Given the description of an element on the screen output the (x, y) to click on. 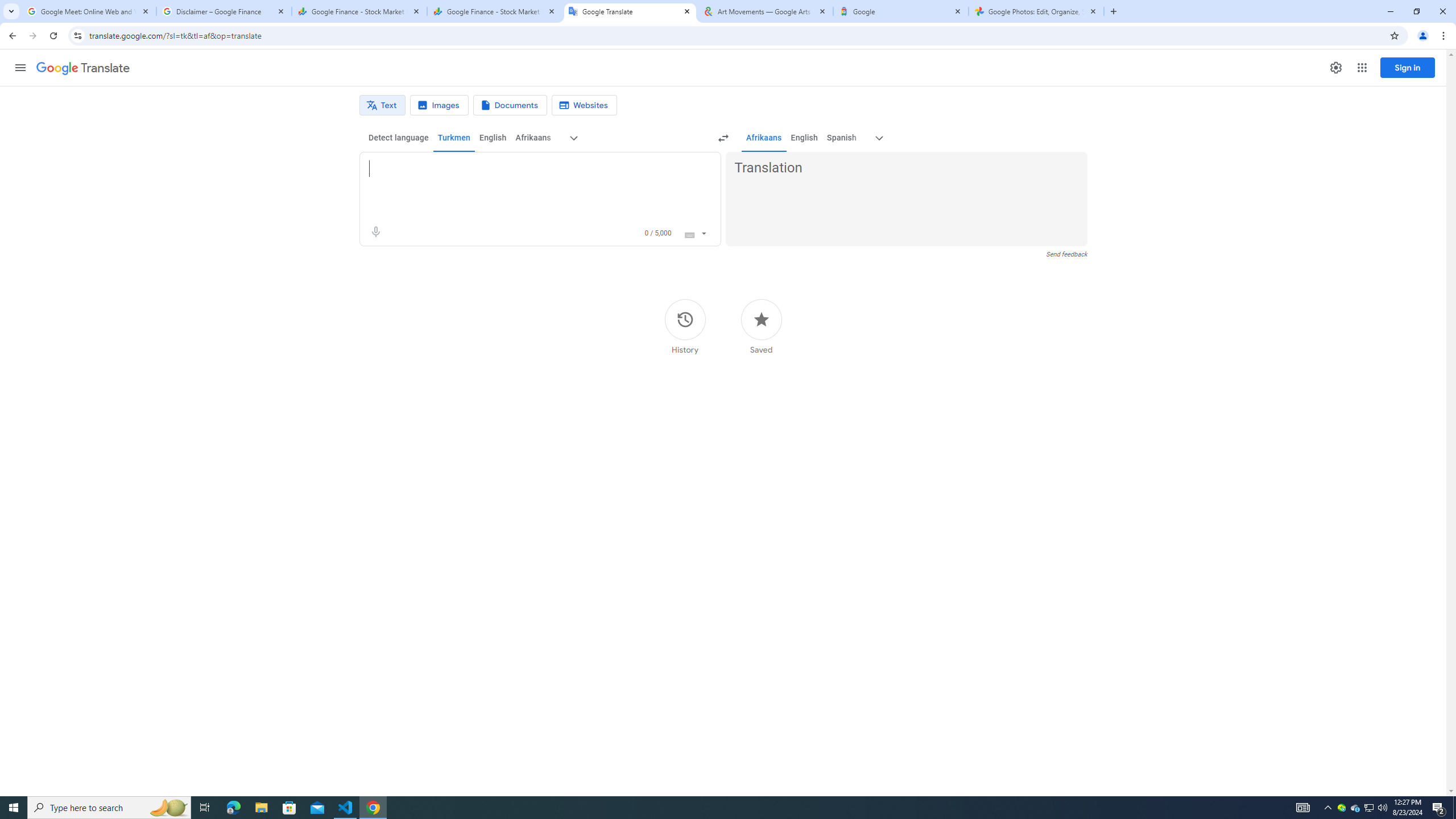
Send feedback (1066, 253)
Source text (529, 167)
History (684, 326)
Address and search bar (735, 35)
Detect language (398, 137)
Swap languages (Ctrl+Shift+S) (723, 137)
0 of 5,000 characters used (658, 232)
Image translation (439, 105)
